Given the description of an element on the screen output the (x, y) to click on. 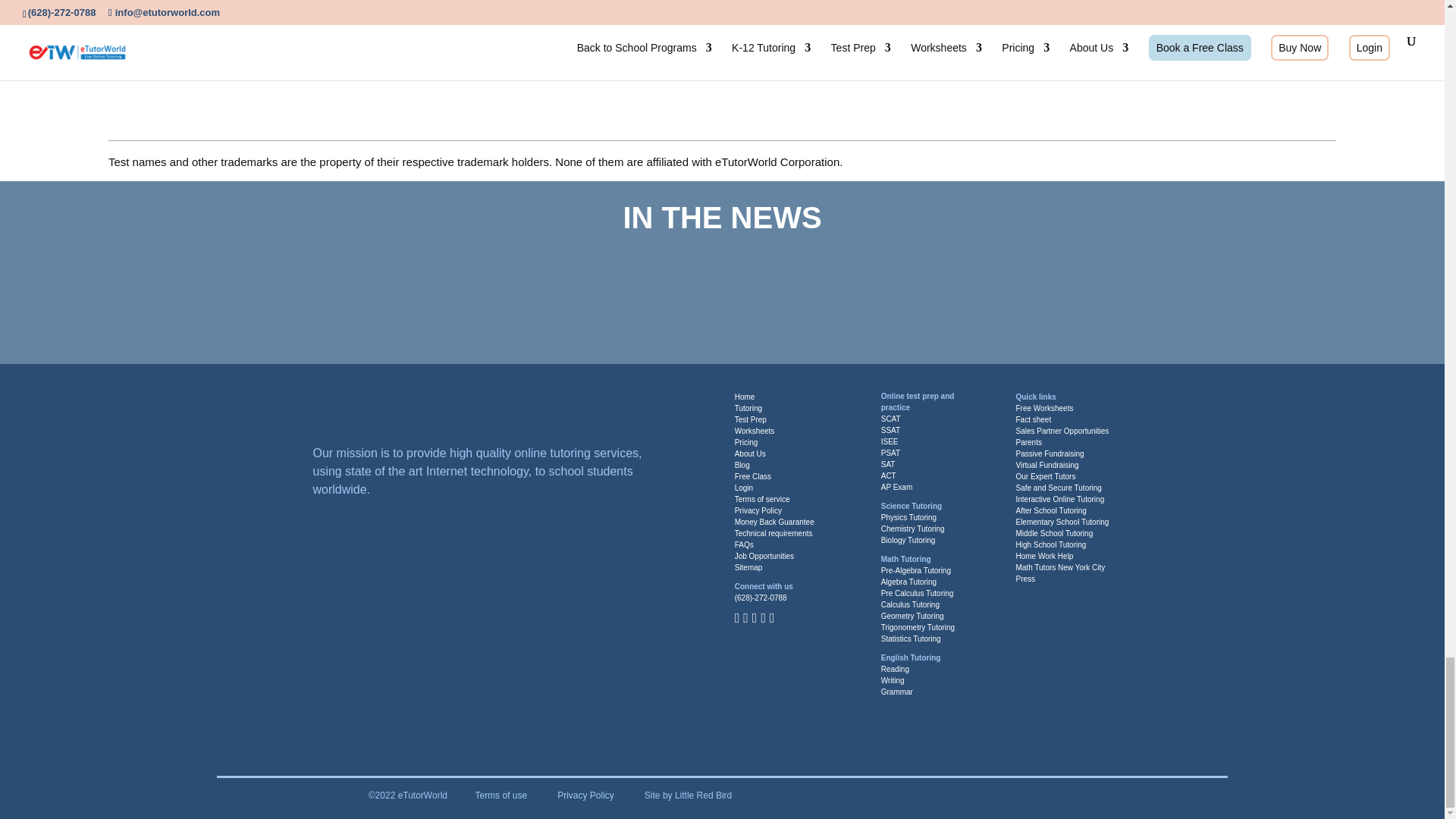
Logo-eTutorWorld-wordmark-white (412, 411)
Business Insider (557, 289)
tutoring-infographic-arrow-1-1 (655, 38)
WSJ (285, 289)
